Given the description of an element on the screen output the (x, y) to click on. 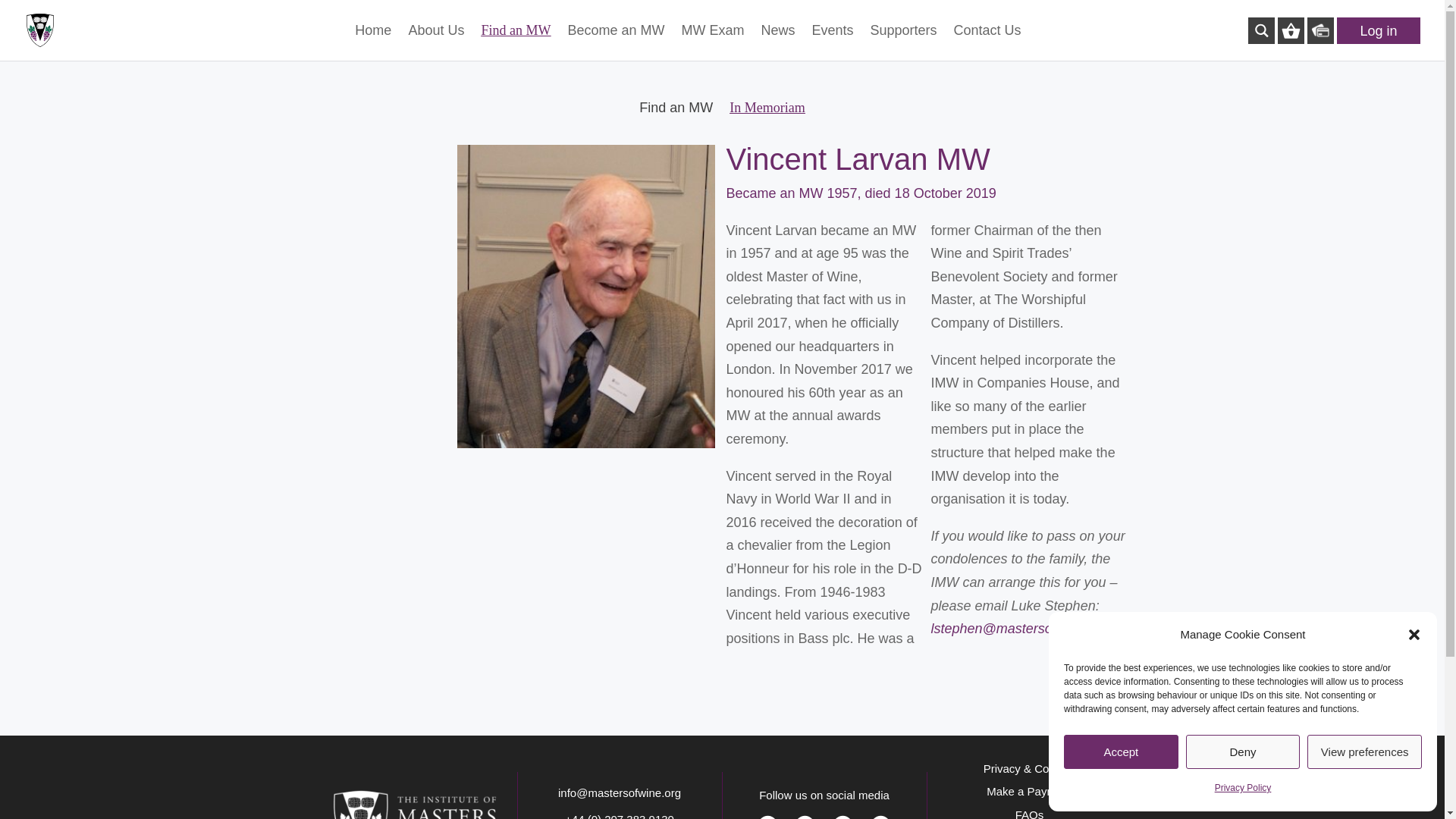
Accept (1120, 751)
Log in (1377, 30)
Home (373, 42)
Supporters (903, 42)
Events (831, 42)
Become an MW (615, 42)
MW Exam (712, 42)
View preferences (1364, 751)
Deny (1243, 751)
Find an MW (515, 42)
About Us (435, 42)
News (777, 42)
Privacy Policy (1242, 788)
Contact Us (987, 42)
